Given the description of an element on the screen output the (x, y) to click on. 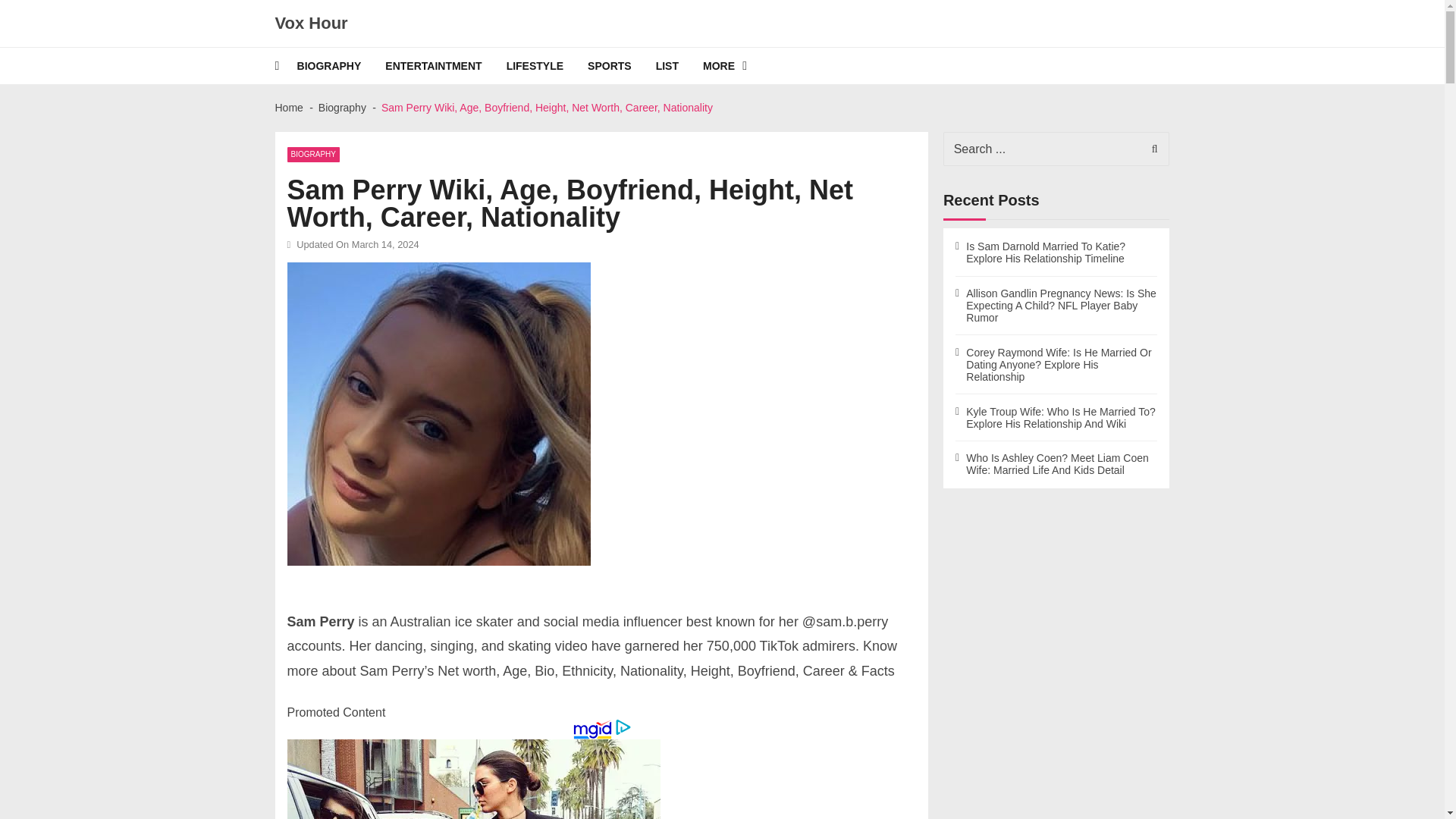
SPORTS (622, 65)
LIST (679, 65)
LIFESTYLE (547, 65)
MORE (737, 65)
BIOGRAPHY (341, 65)
Search (1150, 148)
Home (288, 107)
Vox Hour (311, 23)
Biography (342, 107)
Search (1150, 148)
ENTERTAINTMENT (445, 65)
BIOGRAPHY (312, 154)
